Given the description of an element on the screen output the (x, y) to click on. 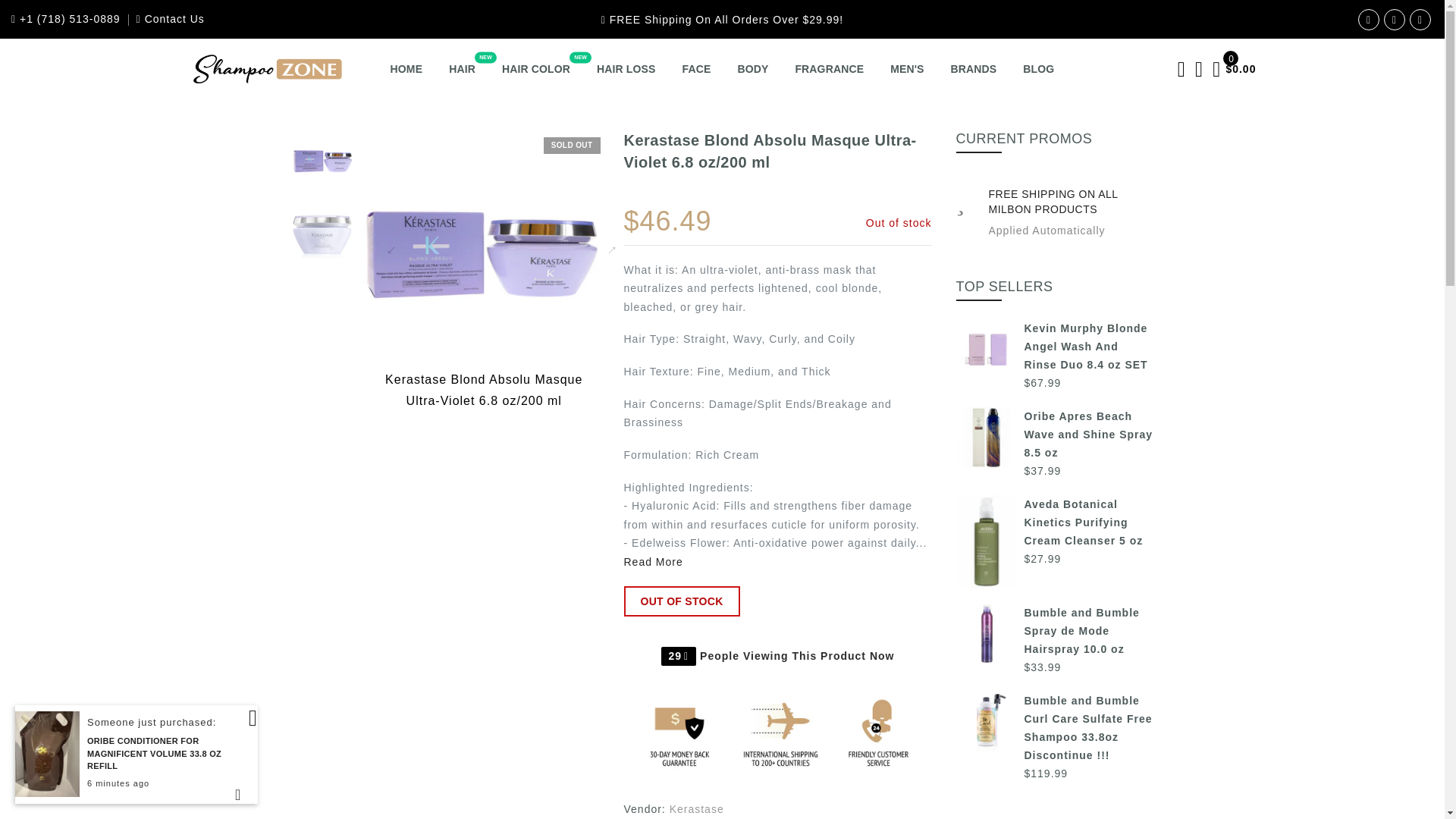
Aveda Botanical Kinetics Purifying Cream Cleanser 5 oz (1054, 522)
Kerastase (696, 808)
Bumble and Bumble Spray de Mode Hairspray 10.0 oz (1054, 630)
Kevin Murphy Blonde Angel Wash And Rinse Duo 8.4 oz SET (1054, 346)
Oribe Apres Beach Wave and Shine Spray 8.5 oz (1054, 434)
